Given the description of an element on the screen output the (x, y) to click on. 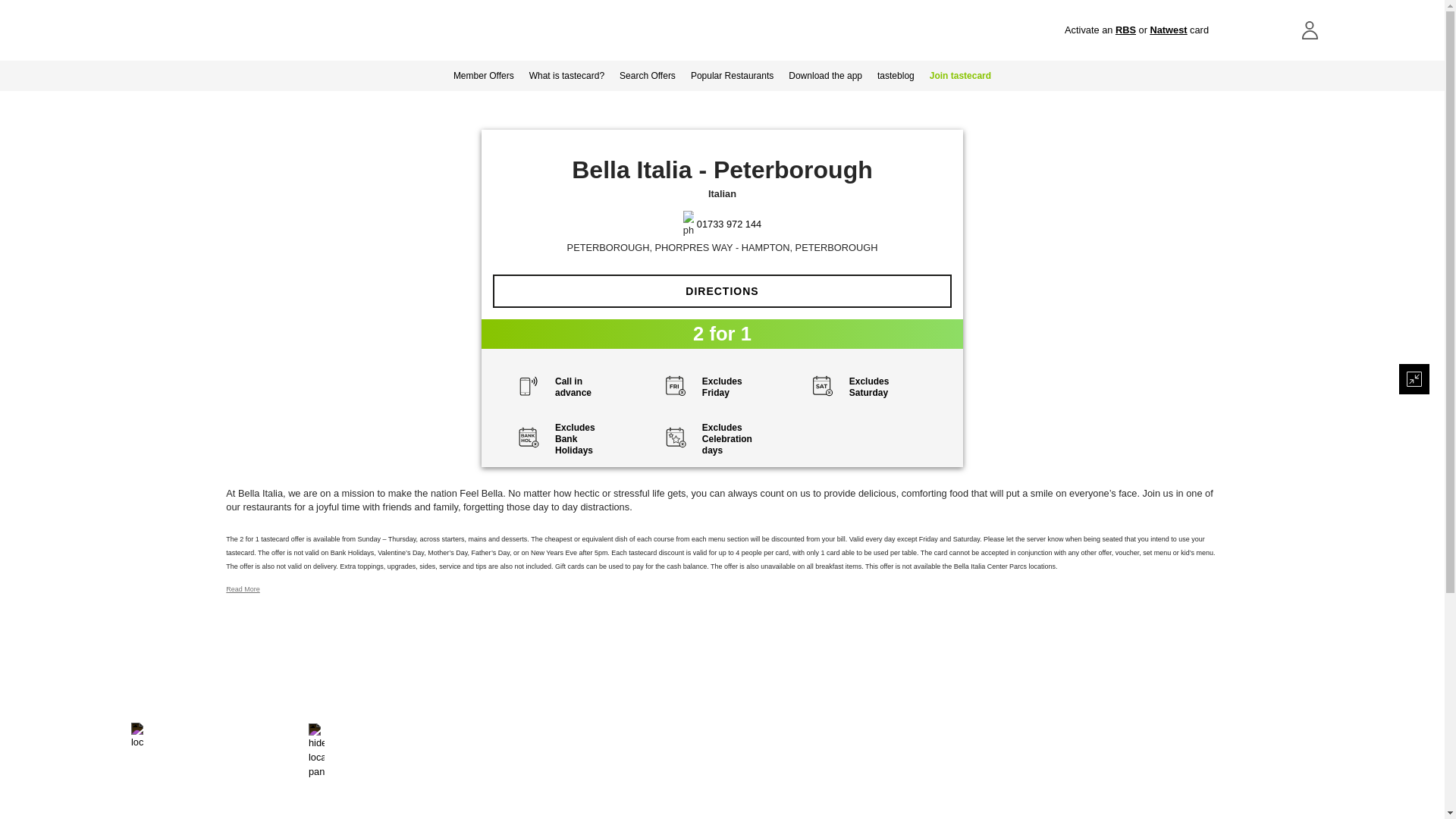
Popular Restaurants (731, 75)
Search Offers (646, 75)
tasteblog (895, 75)
Member Offers (483, 75)
01733 972 144 (729, 224)
RBS (1125, 30)
Download the app (824, 75)
Natwest (1168, 30)
What is tastecard? (566, 75)
DIRECTIONS (722, 290)
Join tastecard (959, 75)
